Given the description of an element on the screen output the (x, y) to click on. 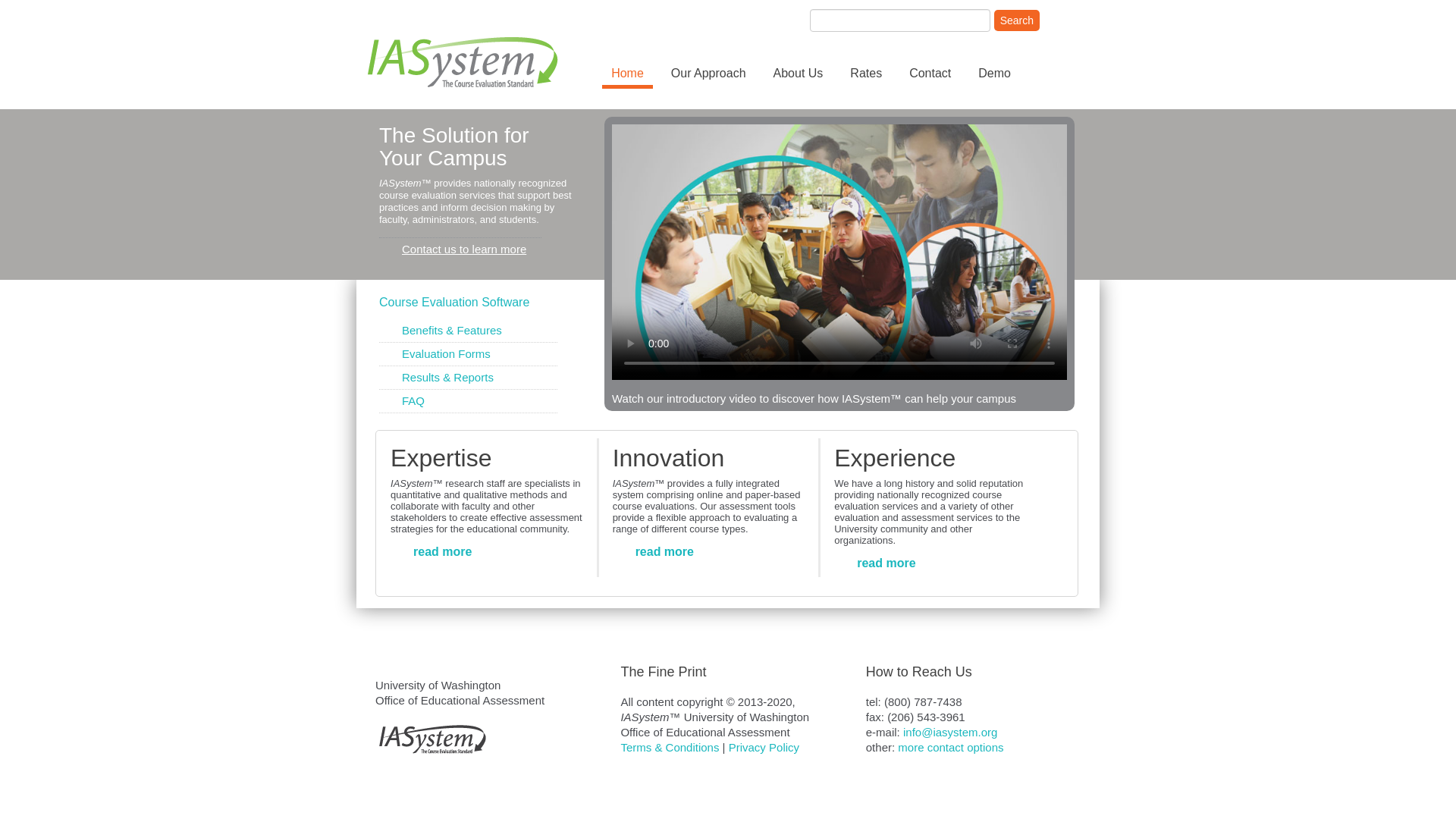
Contact (929, 73)
Our Approach (708, 73)
FAQ (413, 400)
Contact us to learn more (459, 249)
more contact options (950, 747)
Privacy Policy (764, 747)
Demo (994, 73)
read more (886, 562)
About Us (798, 73)
Rates (866, 73)
